Given the description of an element on the screen output the (x, y) to click on. 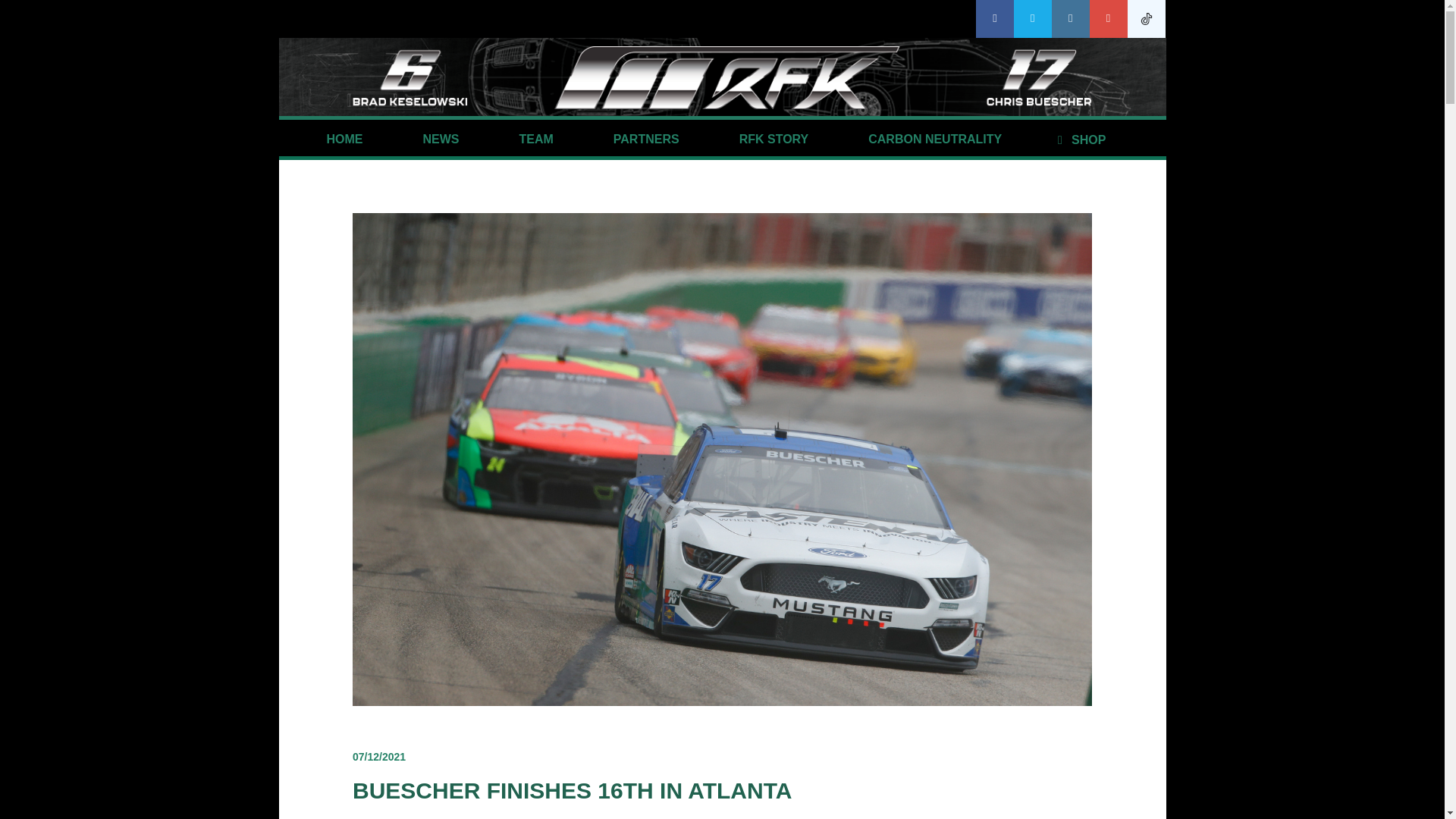
TEAM (536, 139)
NEWS (440, 139)
HOME (344, 139)
RFK STORY (773, 139)
SHOP  (1078, 139)
PARTNERS (646, 139)
CARBON NEUTRALITY (935, 139)
